Given the description of an element on the screen output the (x, y) to click on. 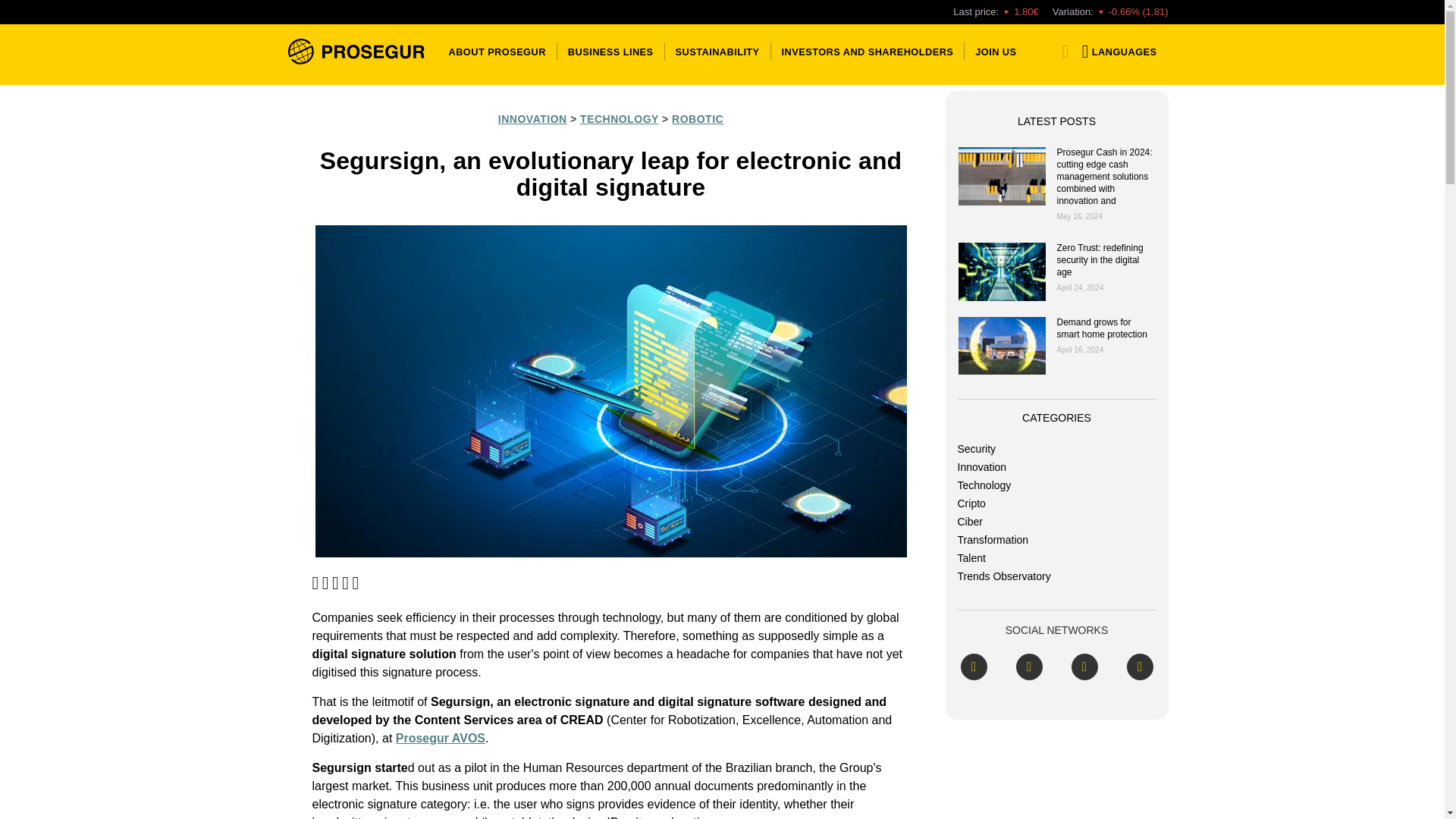
ABOUT PROSEGUR (496, 51)
Zero Trust: redefining security in the digital age (1001, 271)
BUSINESS LINES (610, 51)
Demand grows for smart home protection (1001, 345)
INVESTORS AND SHAREHOLDERS (867, 51)
SUSTAINABILITY (717, 51)
JOIN US (992, 51)
LANGUAGES (1116, 51)
